Given the description of an element on the screen output the (x, y) to click on. 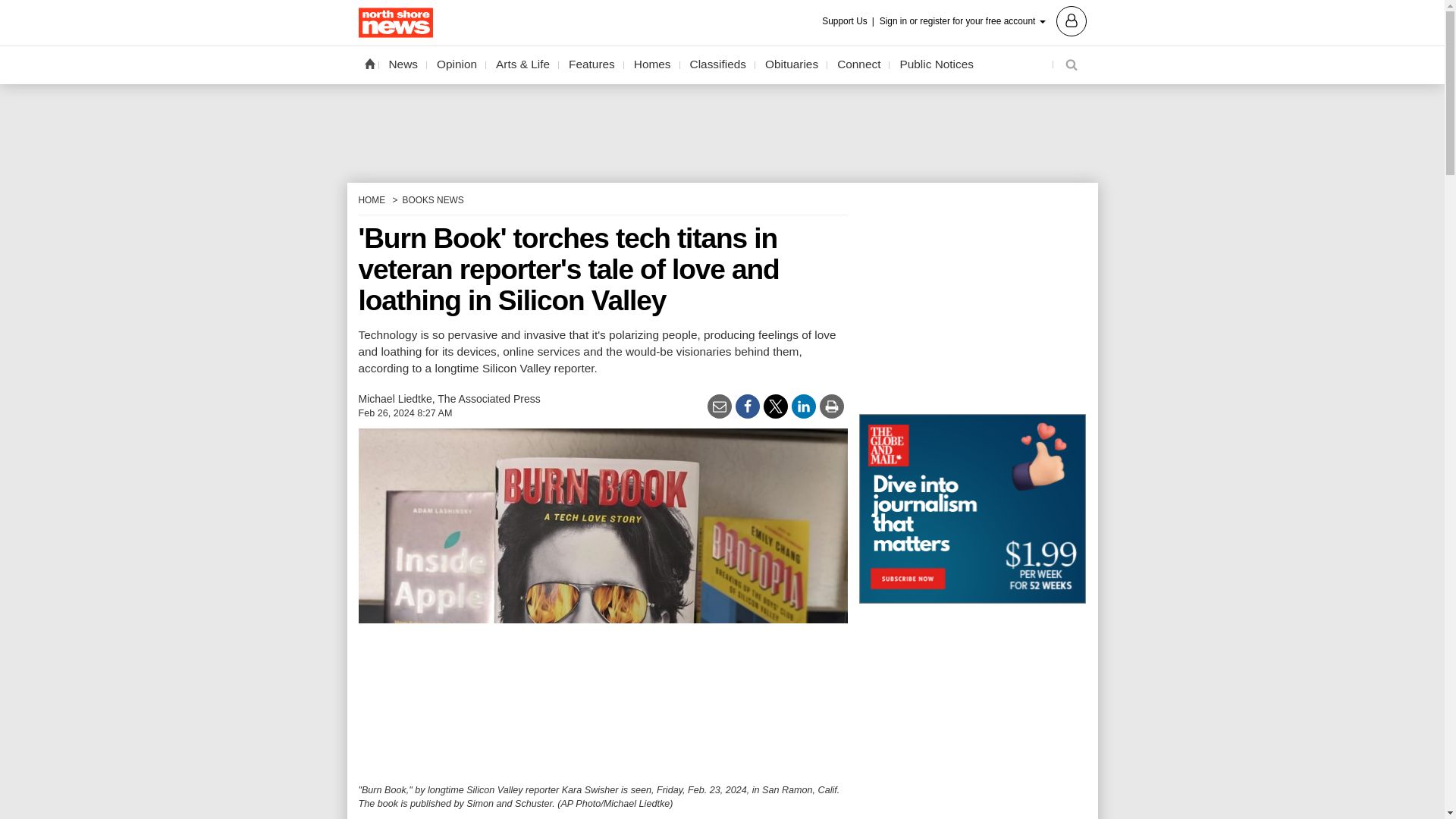
Home (368, 63)
Sign in or register for your free account (982, 20)
Opinion (456, 64)
Support Us (849, 21)
News (403, 64)
